Given the description of an element on the screen output the (x, y) to click on. 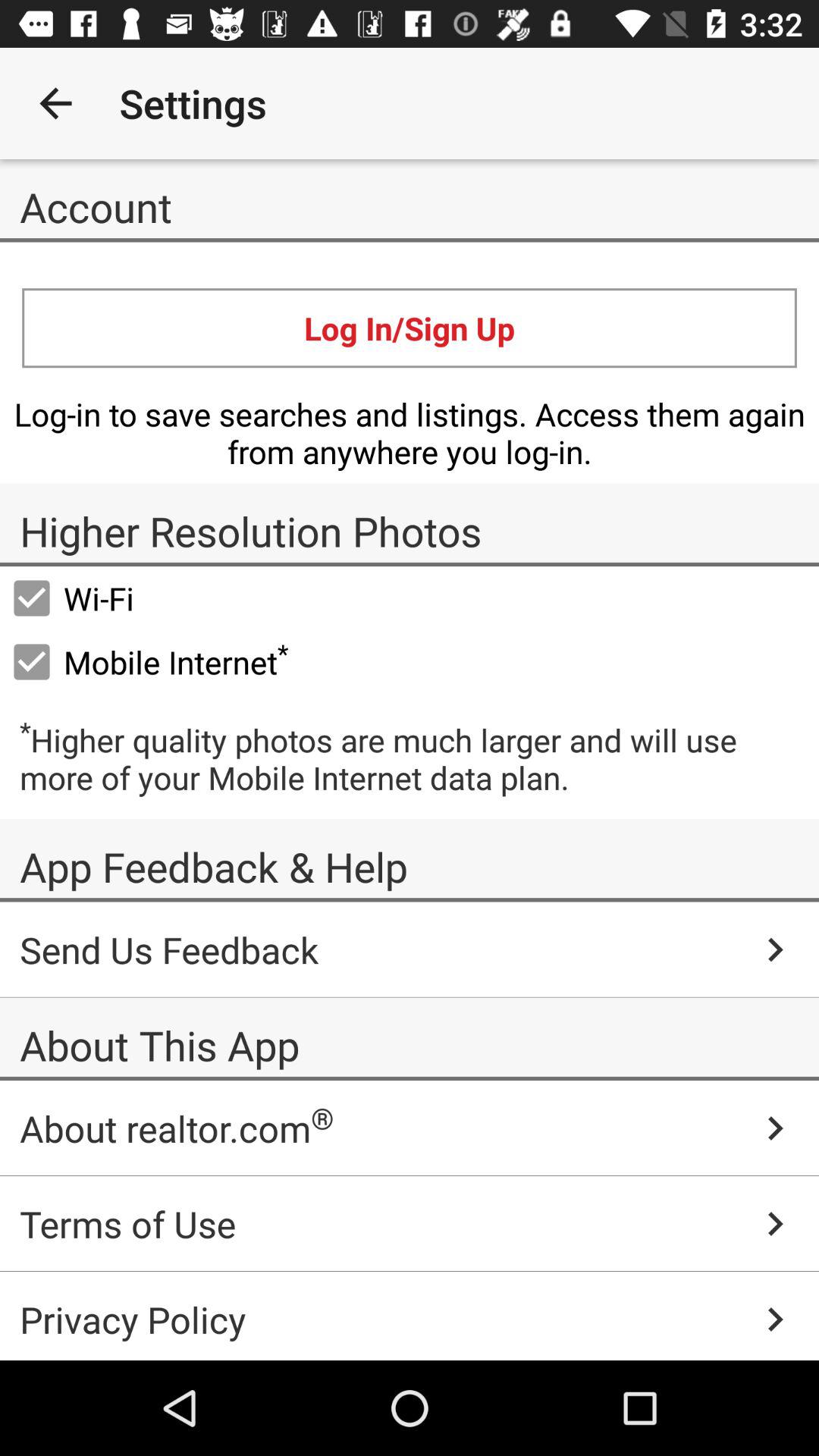
swipe until the send us feedback item (409, 949)
